Given the description of an element on the screen output the (x, y) to click on. 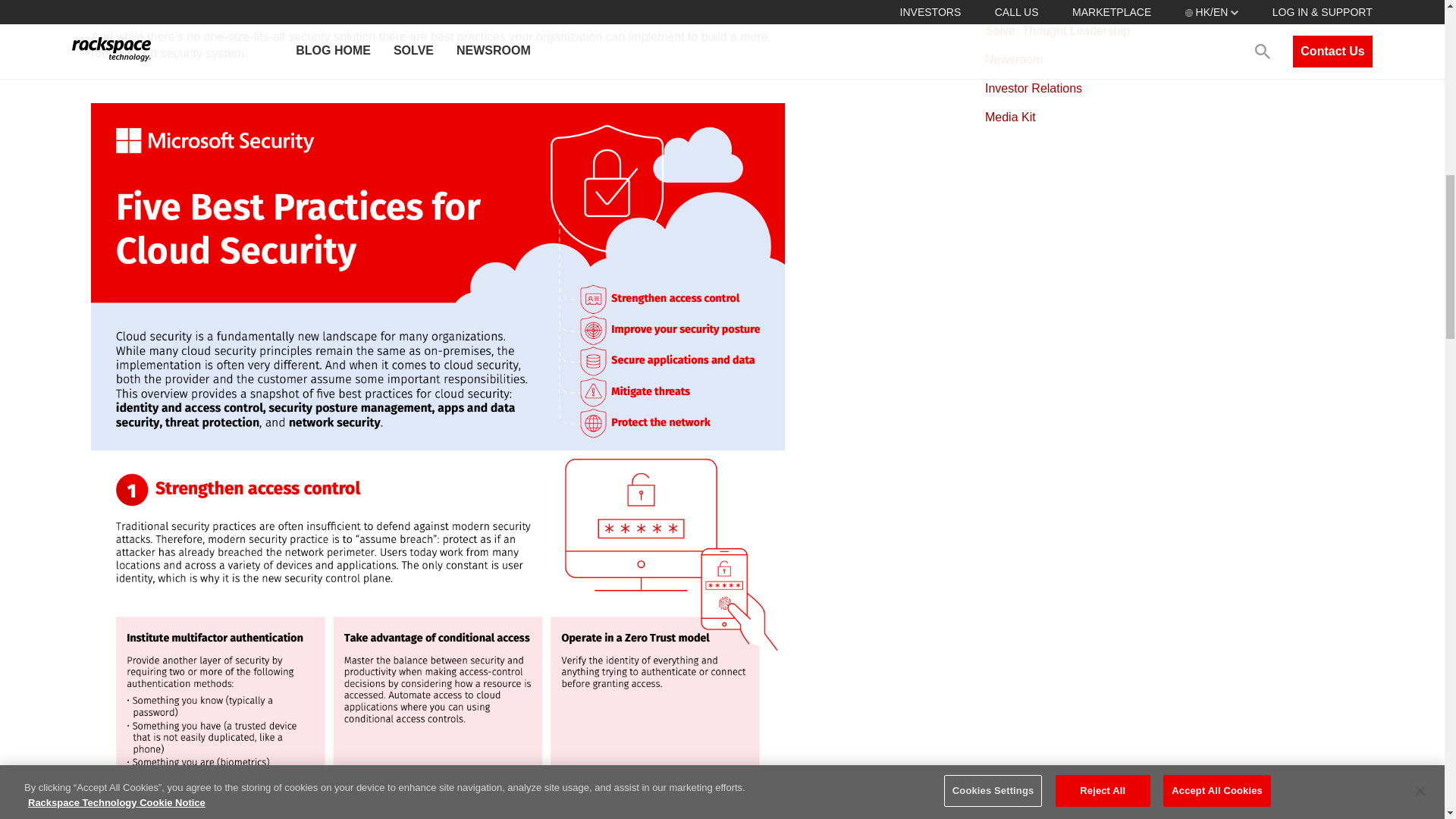
Media Kit (1010, 116)
Solve: Thought Leadership (1057, 30)
Investor Relations (1033, 88)
Blog Home (1015, 4)
Newsroom (1013, 59)
